Given the description of an element on the screen output the (x, y) to click on. 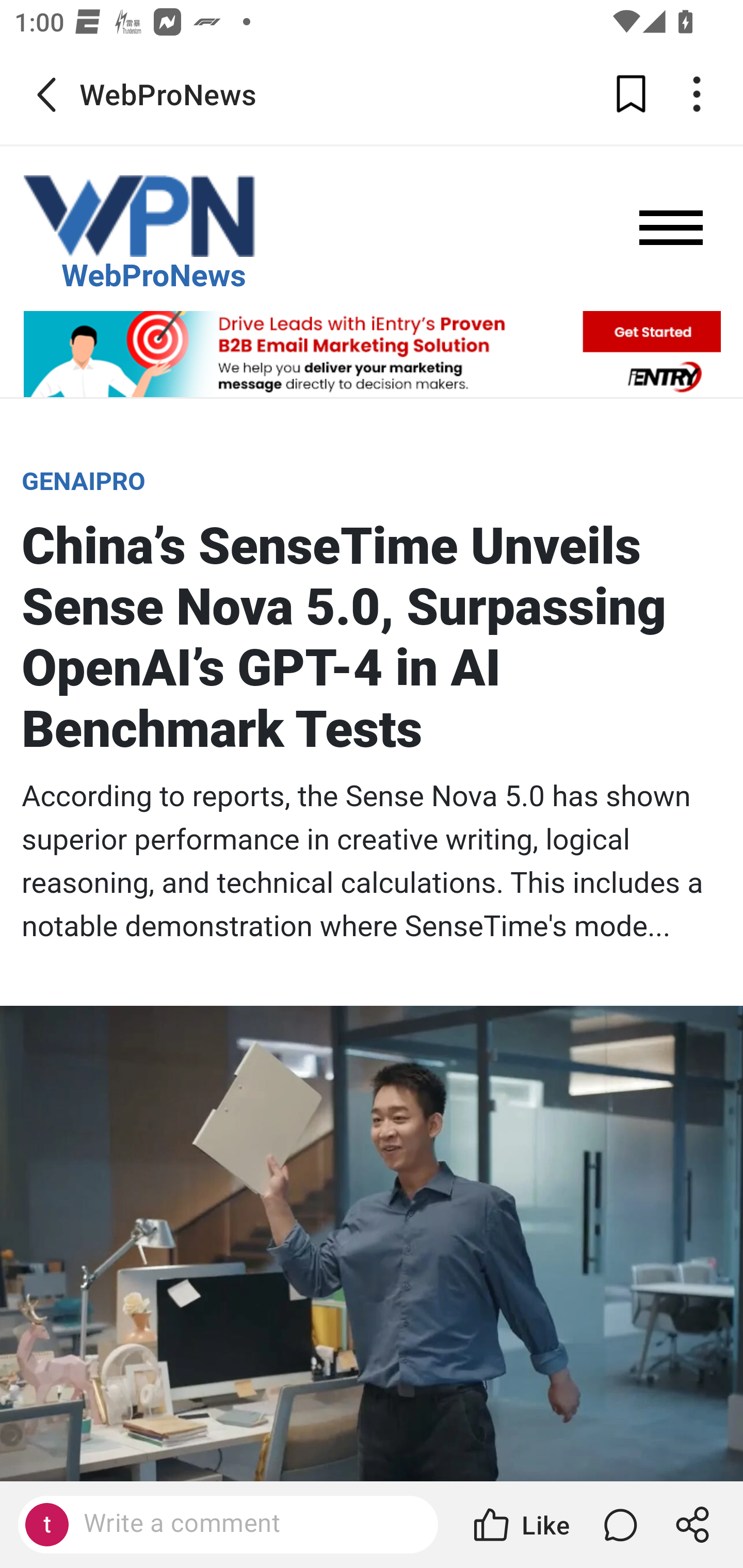
Like (519, 1524)
Write a comment (245, 1523)
